Given the description of an element on the screen output the (x, y) to click on. 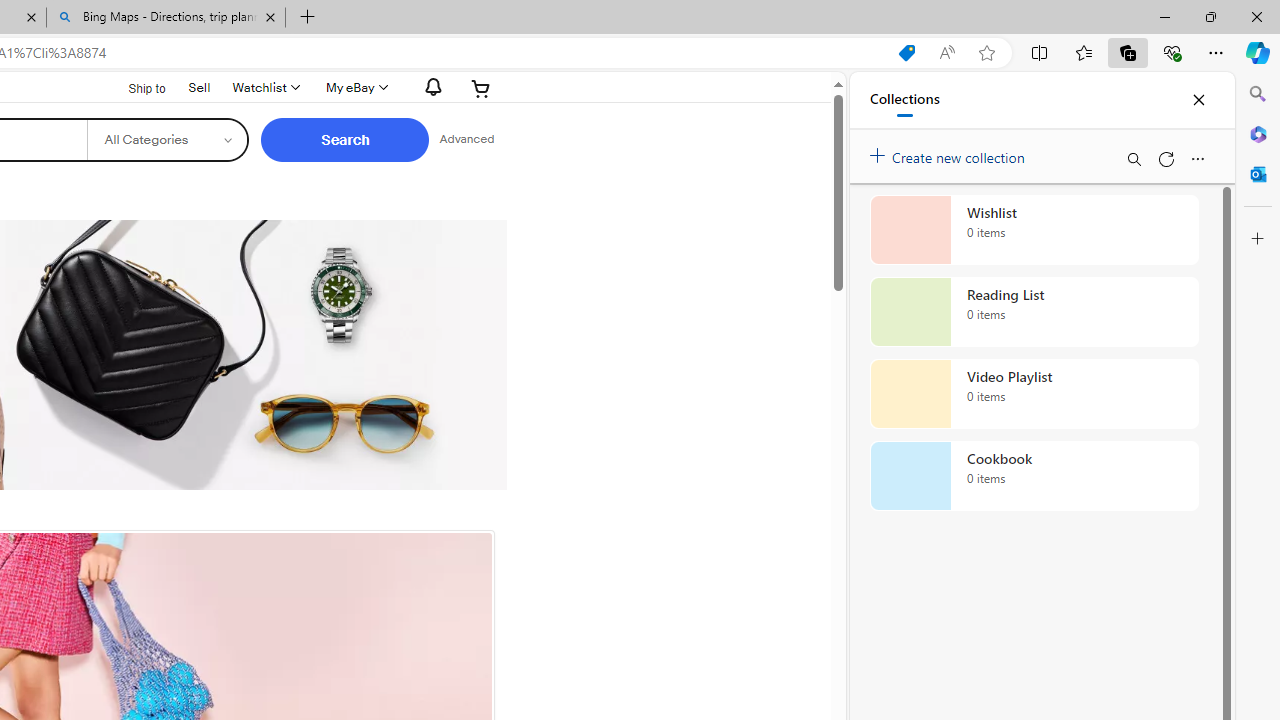
My eBayExpand My eBay (354, 88)
Ship to (134, 86)
Ship to (134, 89)
